Given the description of an element on the screen output the (x, y) to click on. 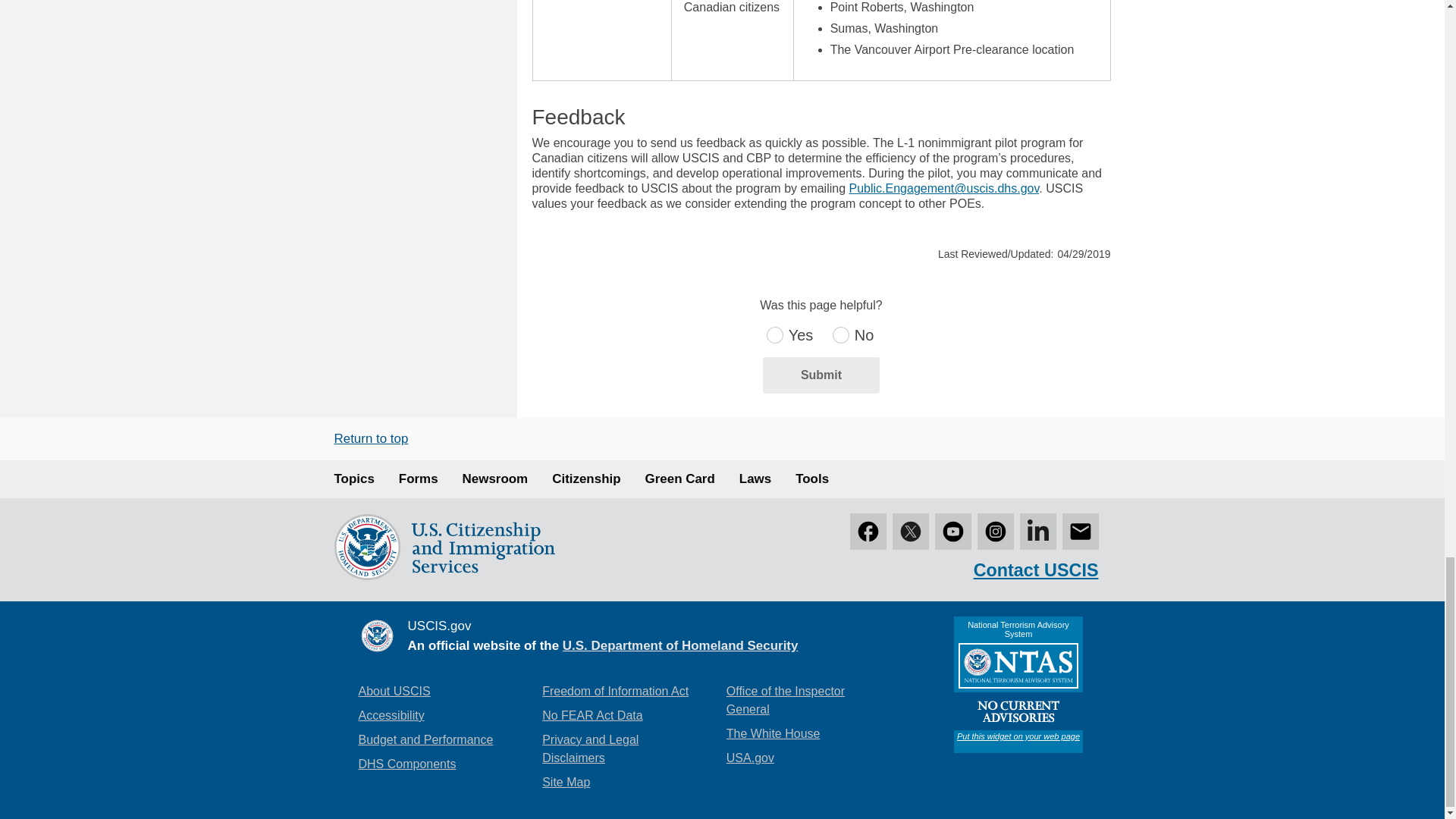
Tools (811, 479)
no (836, 329)
The White House (773, 733)
Green Card (679, 479)
National Terrorism Advisory System (1018, 684)
Privacy and Legal Disclaimers (621, 749)
Newsroom (495, 479)
yes (770, 329)
Citizenship (585, 479)
Accessibility (390, 715)
Submit (820, 375)
Forms (418, 479)
Topics (353, 479)
Citizenship (585, 479)
Forms (418, 479)
